Given the description of an element on the screen output the (x, y) to click on. 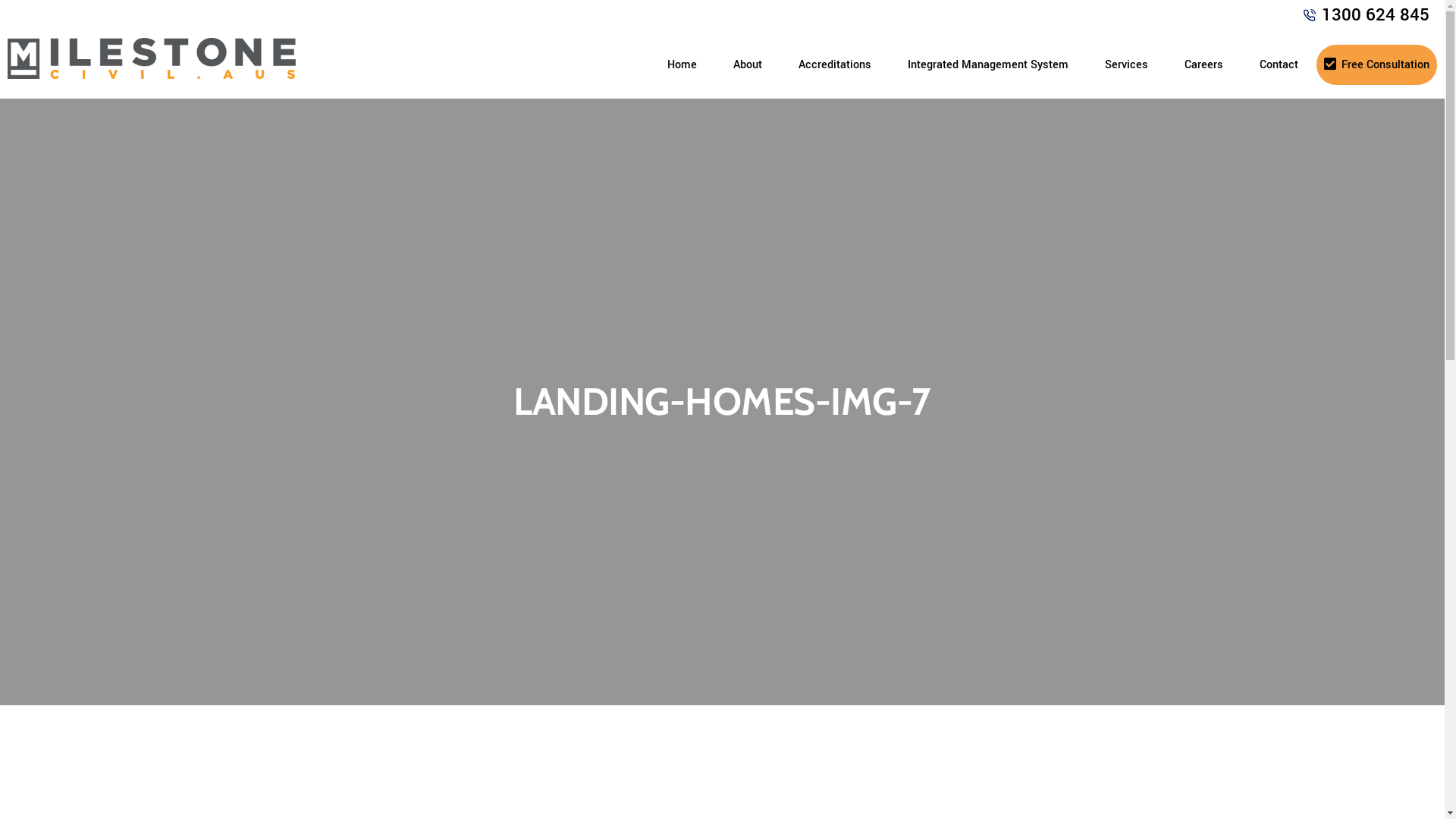
Contact Element type: text (1278, 64)
Free Consultation Element type: text (1376, 63)
Integrated Management System Element type: text (987, 64)
Careers Element type: text (1203, 64)
1300 624 845 Element type: text (1375, 15)
Home Element type: text (682, 64)
About Element type: text (747, 64)
Accreditations Element type: text (834, 64)
Services Element type: text (1126, 64)
